Given the description of an element on the screen output the (x, y) to click on. 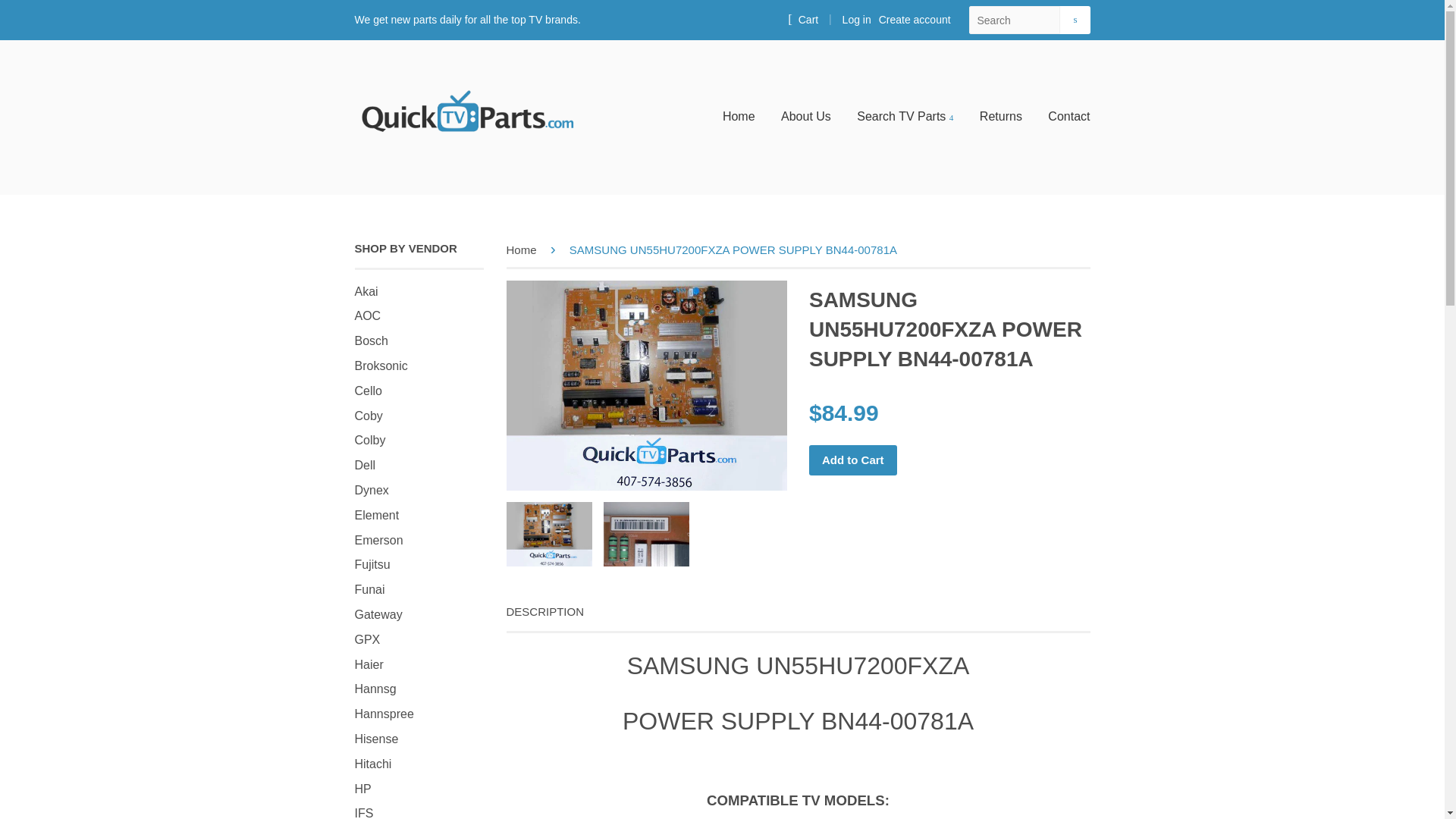
Create account (914, 19)
Back to the frontpage (523, 249)
Log in (856, 19)
Search (1074, 19)
Cart (802, 19)
